Given the description of an element on the screen output the (x, y) to click on. 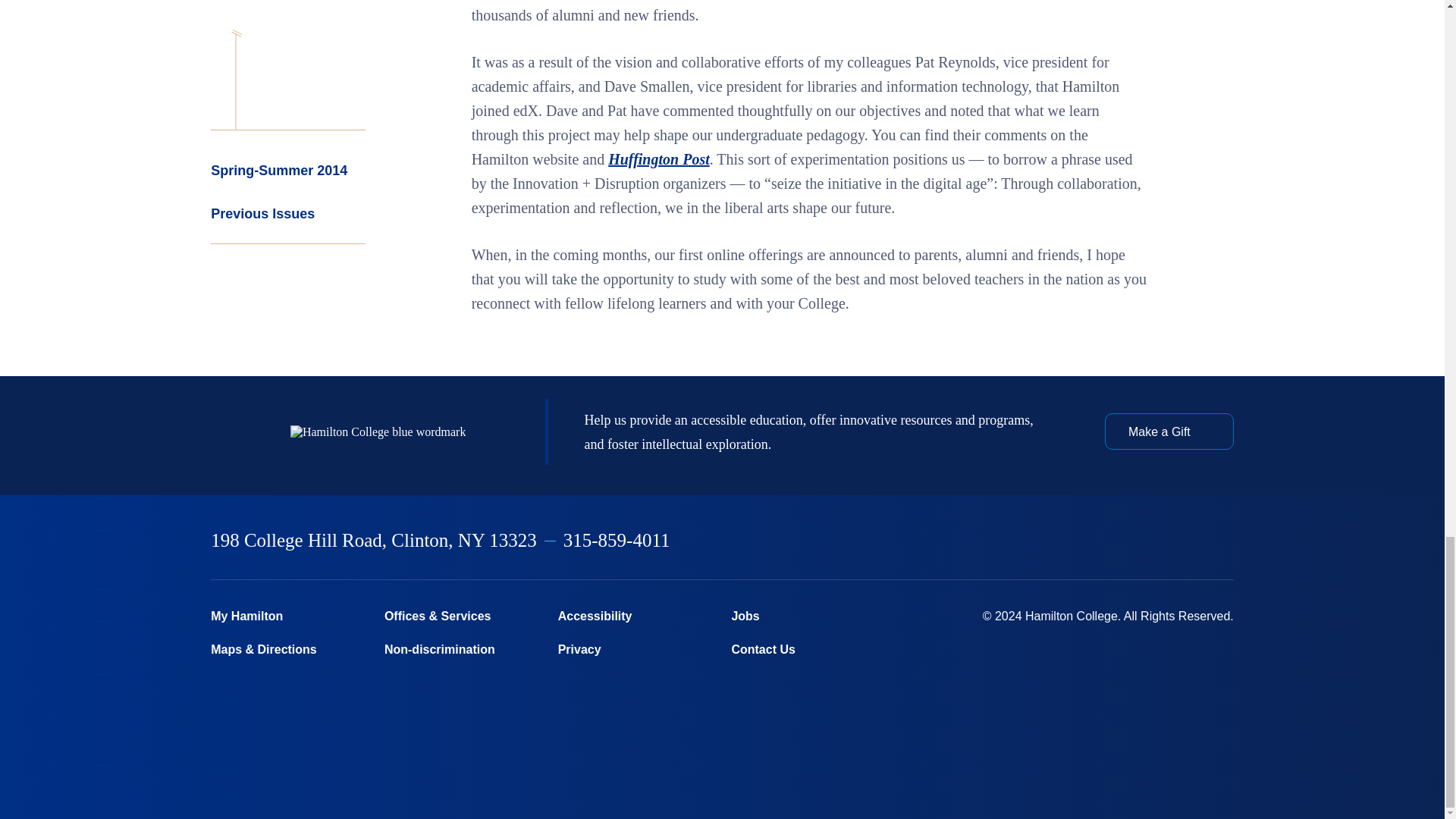
Huffington Post (659, 158)
Facebook (1029, 540)
Youtube (1188, 541)
Twitter (1069, 540)
Linkedin (1149, 540)
Instagram (1109, 540)
TikTok (1226, 540)
My Hamilton (288, 616)
198 College Hill Road, Clinton, NY 13323 (373, 540)
Make a Gift (1169, 431)
